Given the description of an element on the screen output the (x, y) to click on. 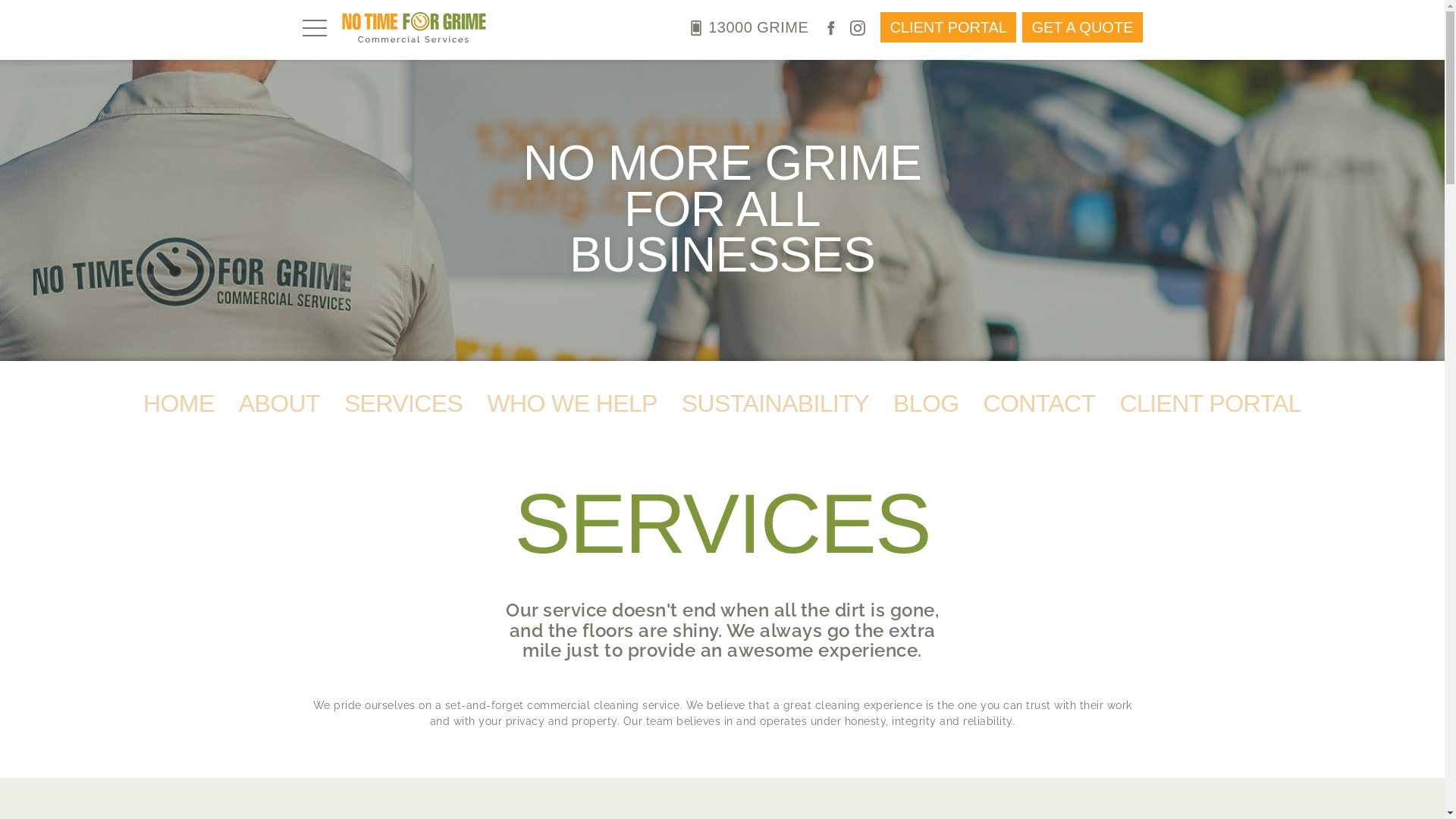
HOME Element type: text (178, 404)
CONTACT Element type: text (1038, 404)
13000 GRIME Element type: text (748, 27)
CLIENT PORTAL Element type: text (1210, 404)
ABOUT Element type: text (279, 404)
GET A QUOTE Element type: text (1082, 27)
WHO WE HELP Element type: text (571, 404)
SUSTAINABILITY Element type: text (775, 404)
BLOG Element type: text (926, 404)
SERVICES Element type: text (403, 404)
CLIENT PORTAL Element type: text (948, 27)
